Given the description of an element on the screen output the (x, y) to click on. 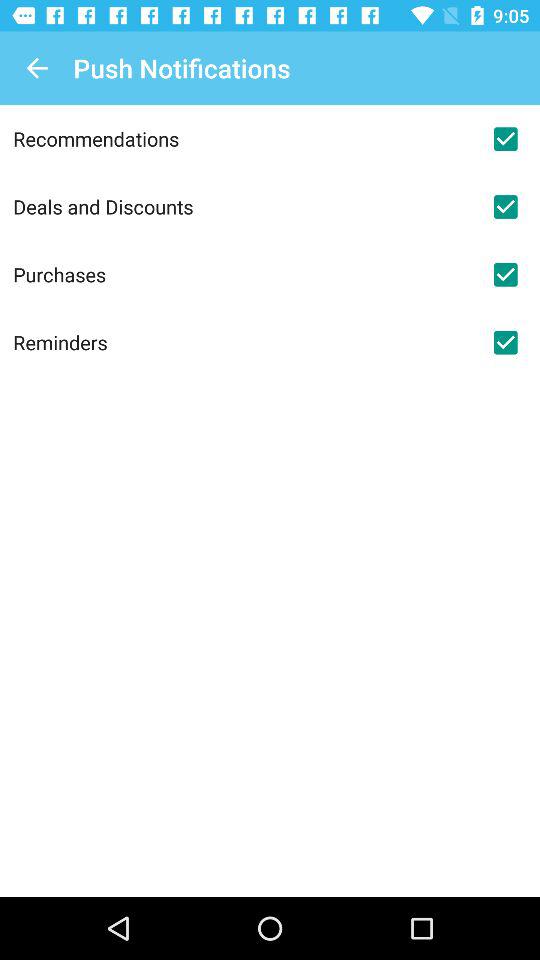
uncheck option (505, 342)
